Given the description of an element on the screen output the (x, y) to click on. 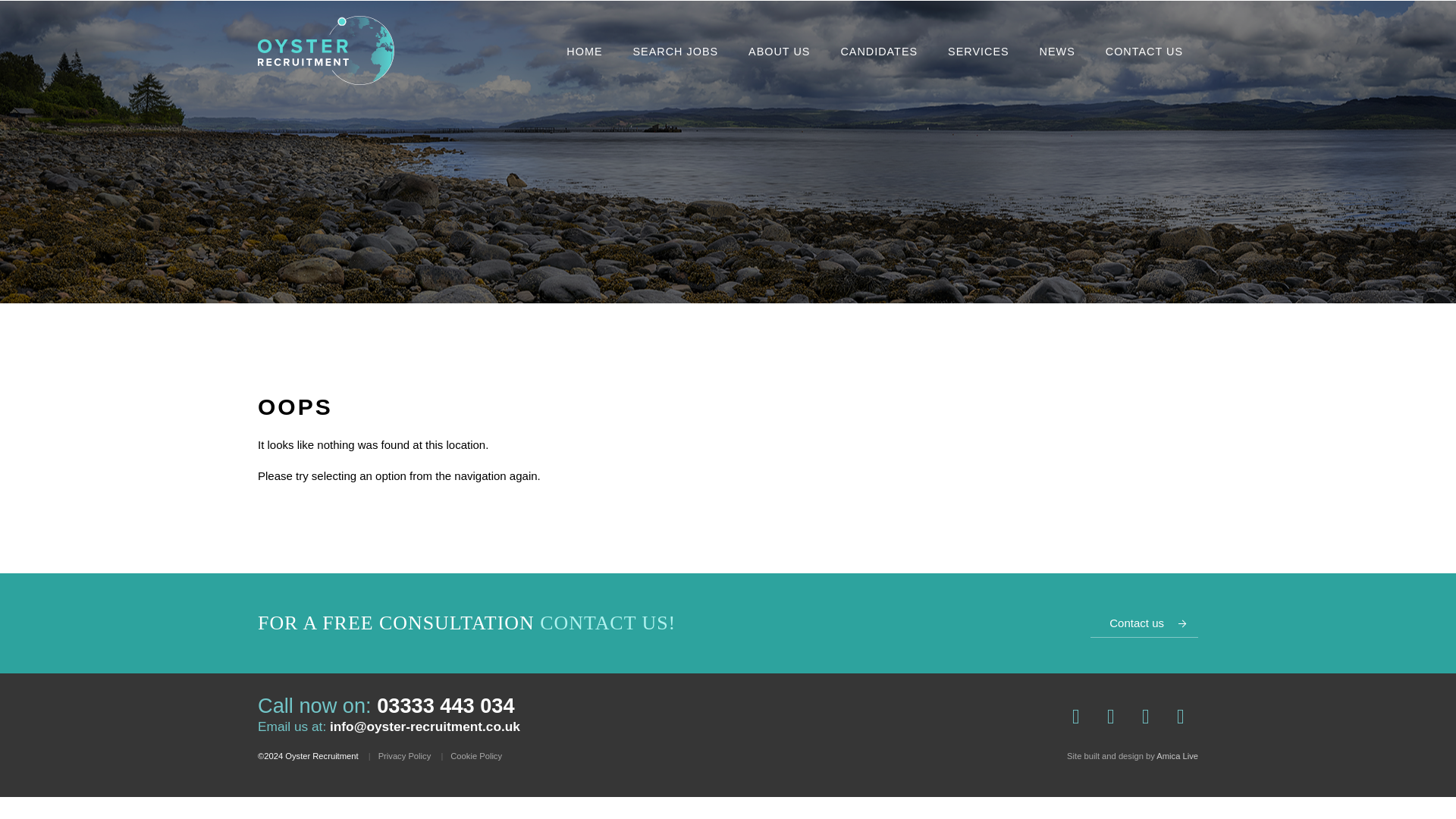
NEWS (1056, 51)
SEARCH JOBS (676, 51)
SERVICES (978, 51)
HOME (583, 51)
03333 443 034 (445, 705)
Cookie Policy (475, 755)
CANDIDATES (878, 51)
Contact us (1144, 623)
Amica Live (1177, 755)
ABOUT US (778, 51)
Privacy Policy (404, 755)
CONTACT US (1144, 51)
